Given the description of an element on the screen output the (x, y) to click on. 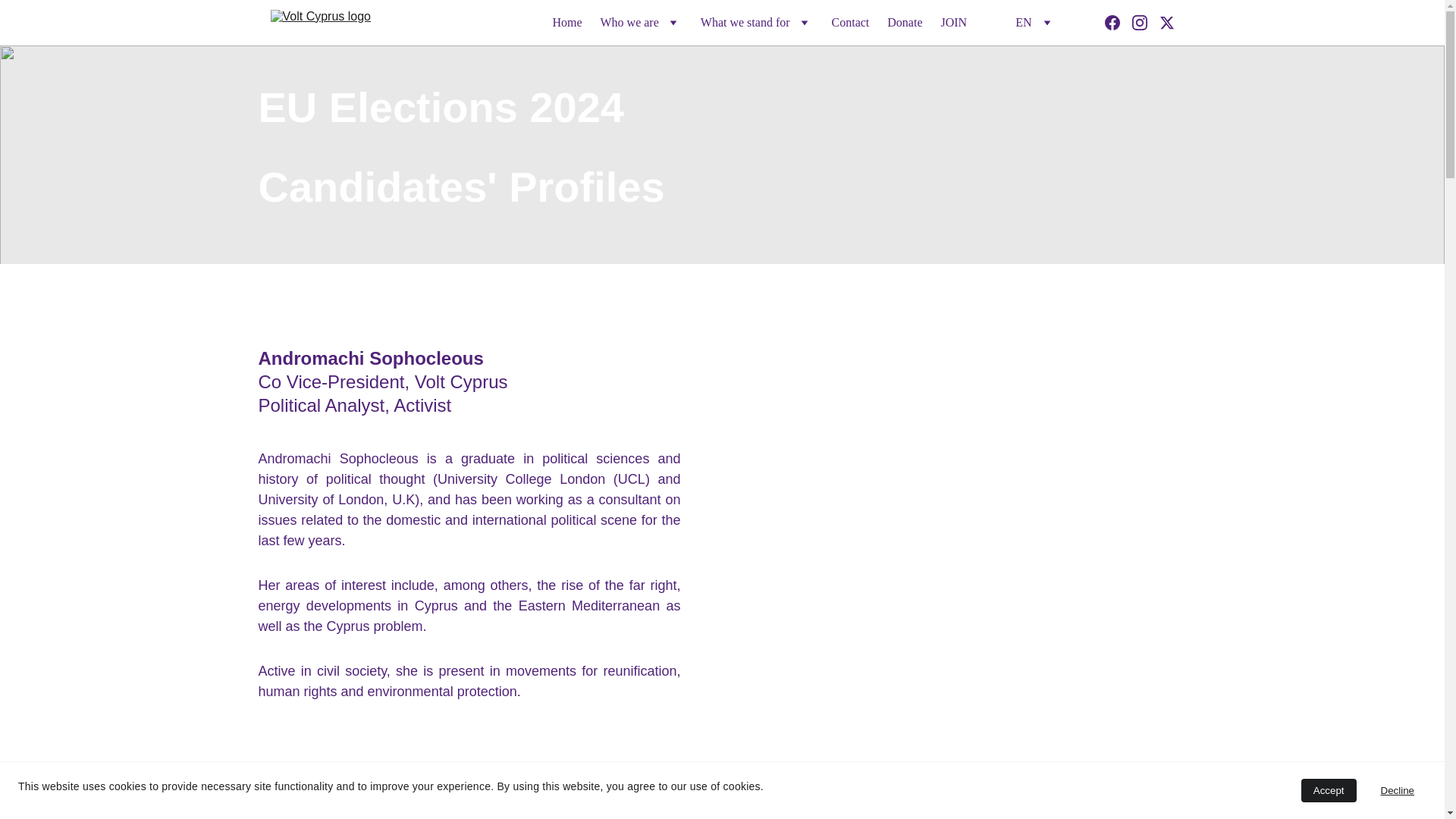
JOIN (953, 22)
Contact (850, 22)
Home (565, 22)
Donate (903, 22)
